Given the description of an element on the screen output the (x, y) to click on. 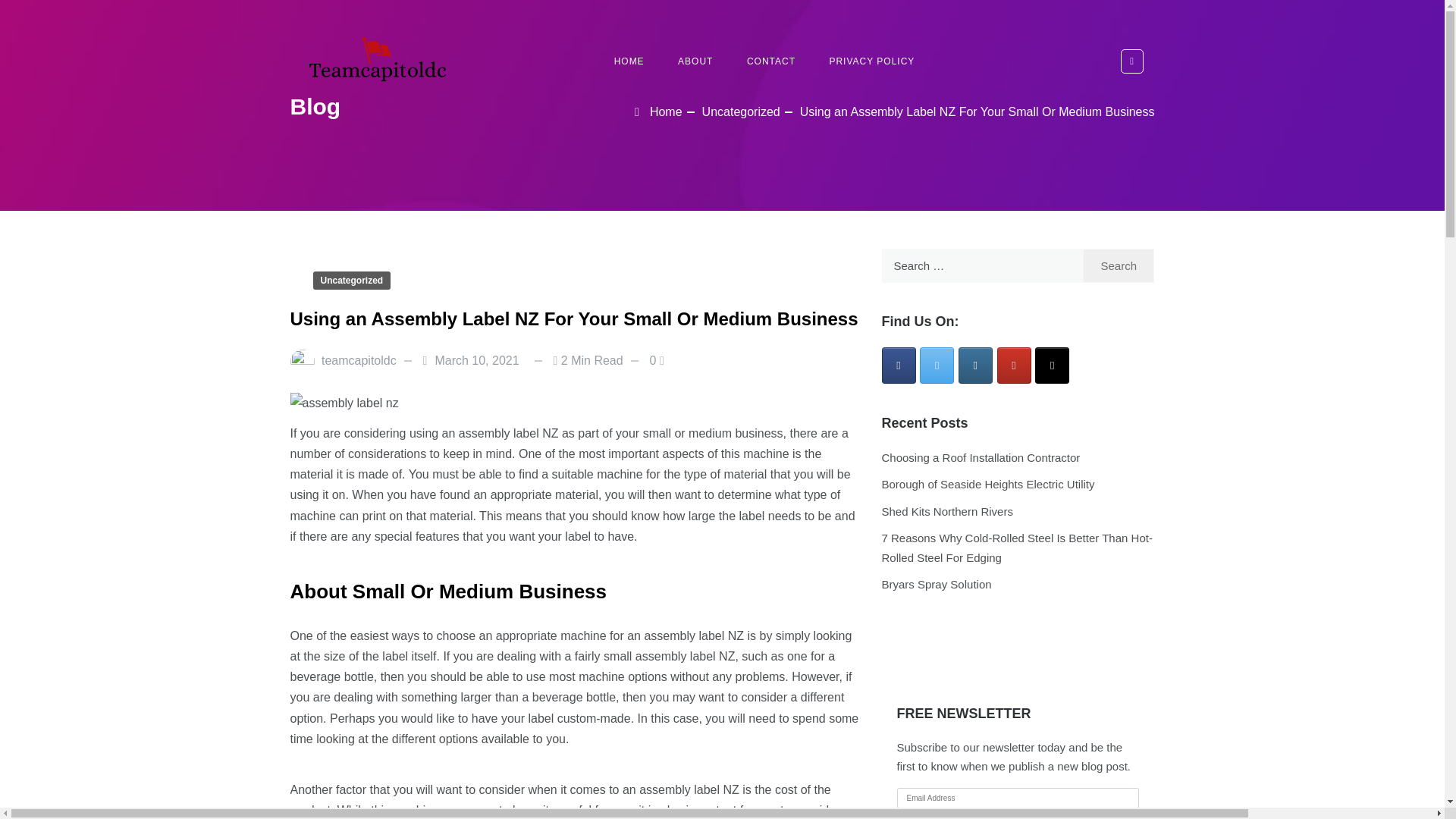
SUBSCRIBE NOW (1017, 815)
Choosing a Roof Installation Contractor (980, 457)
Search (1118, 265)
Home (658, 111)
Teamcapitoldc on Youtube (1013, 365)
Teamcapitoldc on Facebook (897, 365)
Teamcapitoldc on X Twitter (936, 365)
Borough of Seaside Heights Electric Utility (987, 483)
Search (83, 11)
Teamcapitoldc (354, 60)
HOME (628, 60)
Using an Assembly Label NZ For Your Small Or Medium Business (976, 111)
Teamcapitoldc on Instagram (975, 365)
Uncategorized (740, 111)
